Given the description of an element on the screen output the (x, y) to click on. 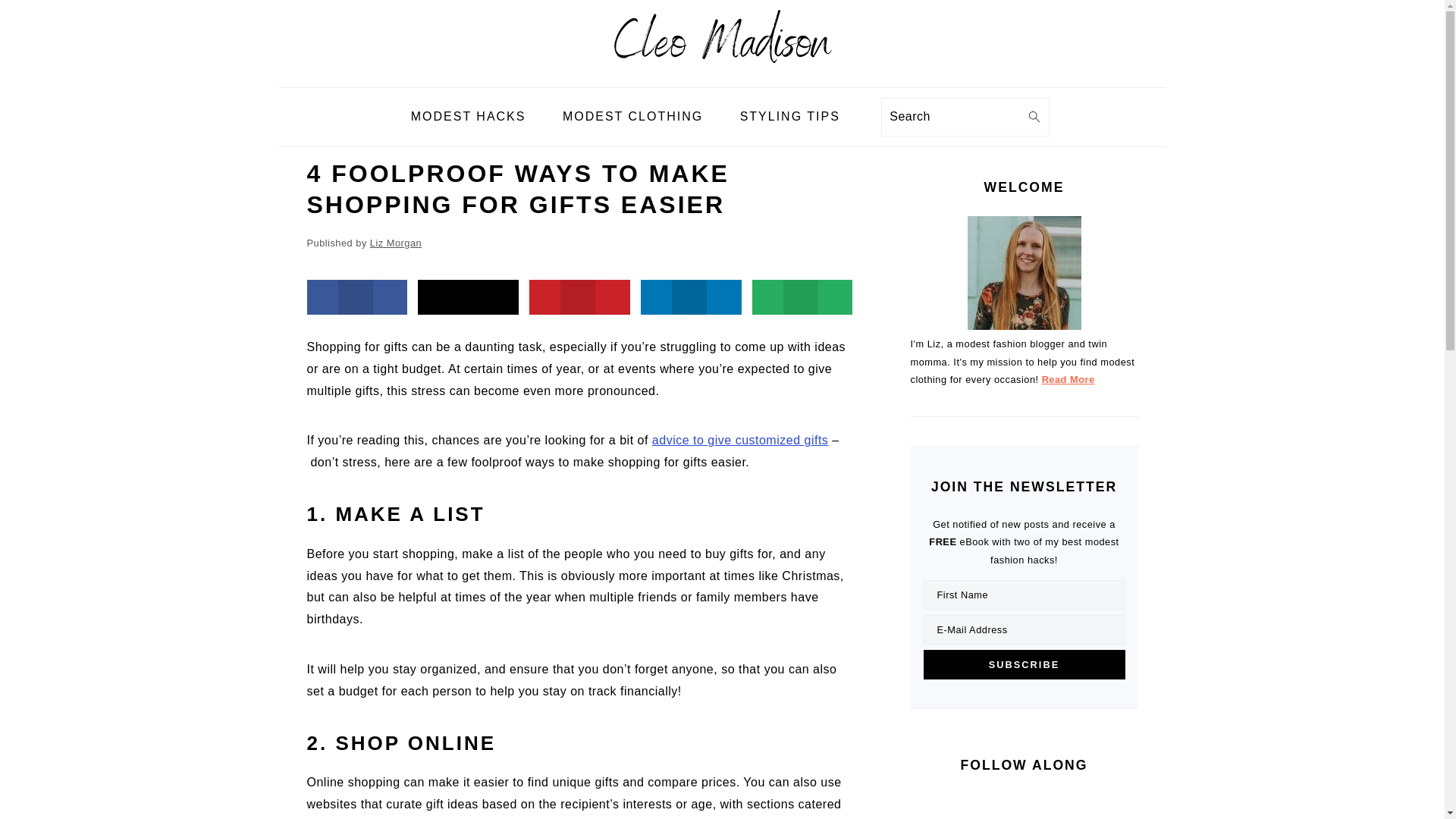
MODEST HACKS (467, 116)
Read More (1068, 378)
STYLING TIPS (789, 116)
Cleo Madison (721, 74)
Subscribe (1024, 664)
advice to give customized gifts (740, 440)
Liz Morgan (395, 242)
Subscribe (1024, 664)
Share on LinkedIn (690, 297)
Share on Facebook (355, 297)
Save to Pinterest (578, 297)
